Given the description of an element on the screen output the (x, y) to click on. 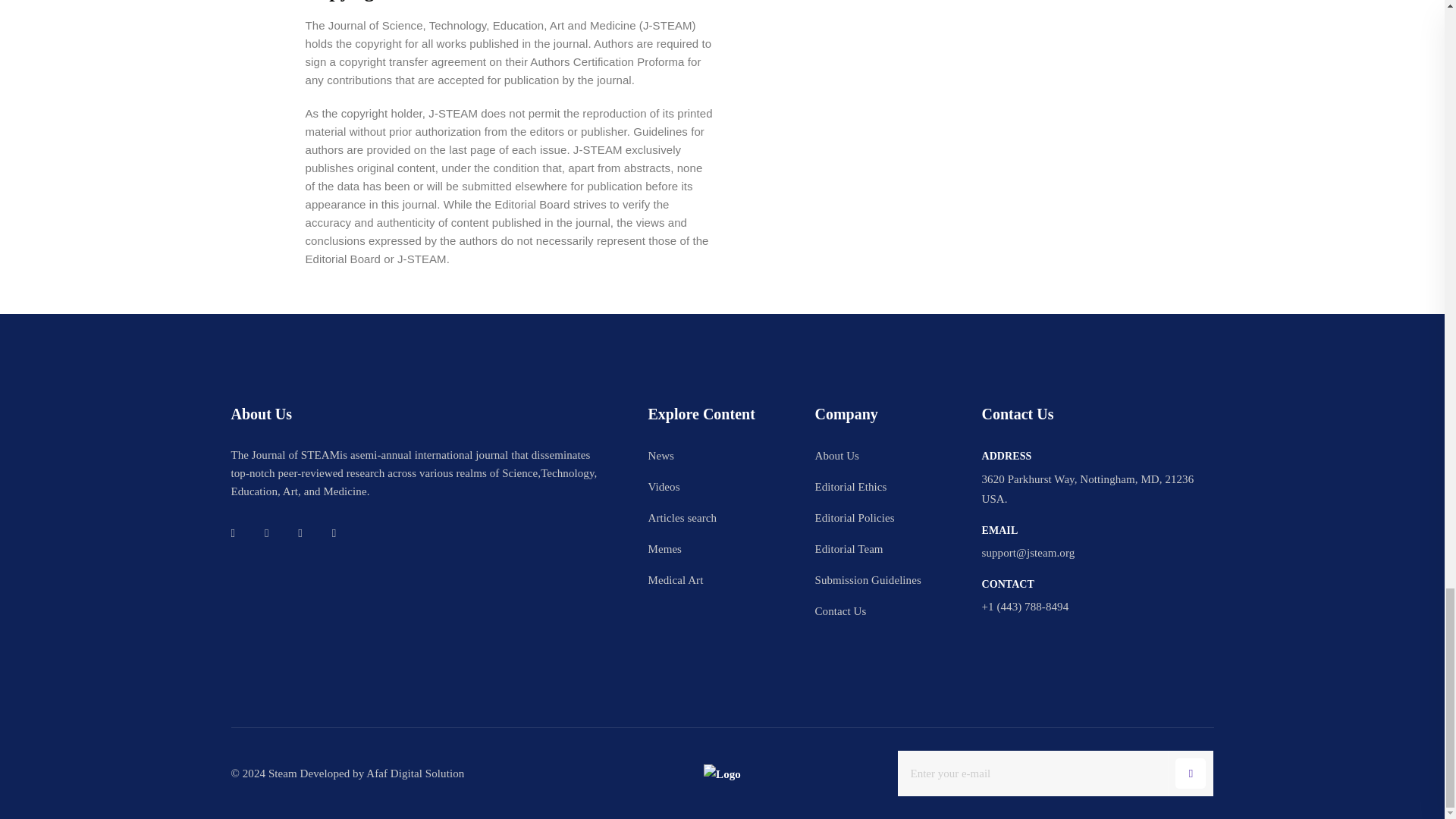
About Us (836, 455)
Videos (663, 486)
Memes (664, 548)
News (659, 455)
Medical Art (675, 579)
Articles search (681, 517)
Editorial Ethics (849, 486)
